Given the description of an element on the screen output the (x, y) to click on. 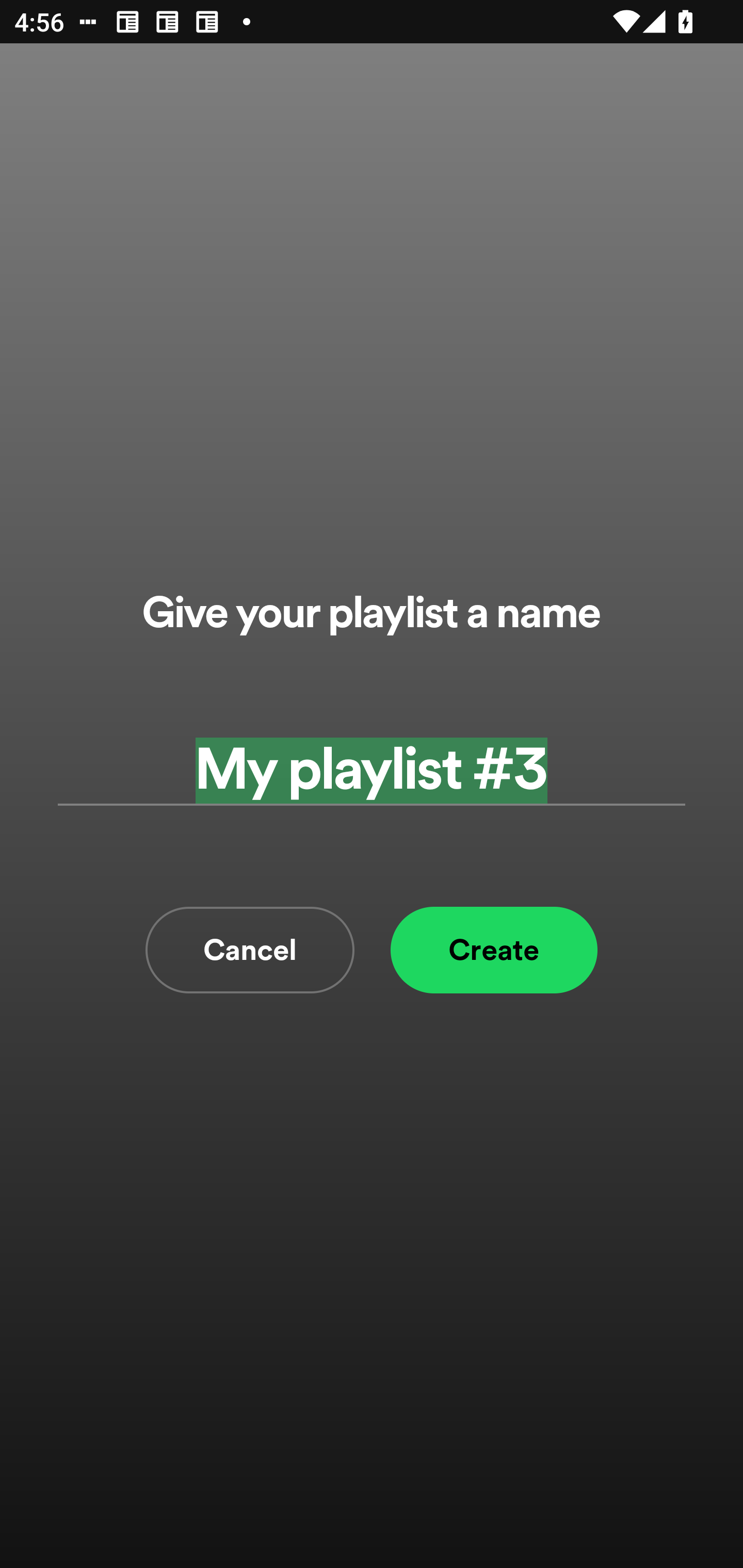
My playlist #3 Add a playlist name (371, 769)
Cancel (249, 950)
Create (493, 950)
